Given the description of an element on the screen output the (x, y) to click on. 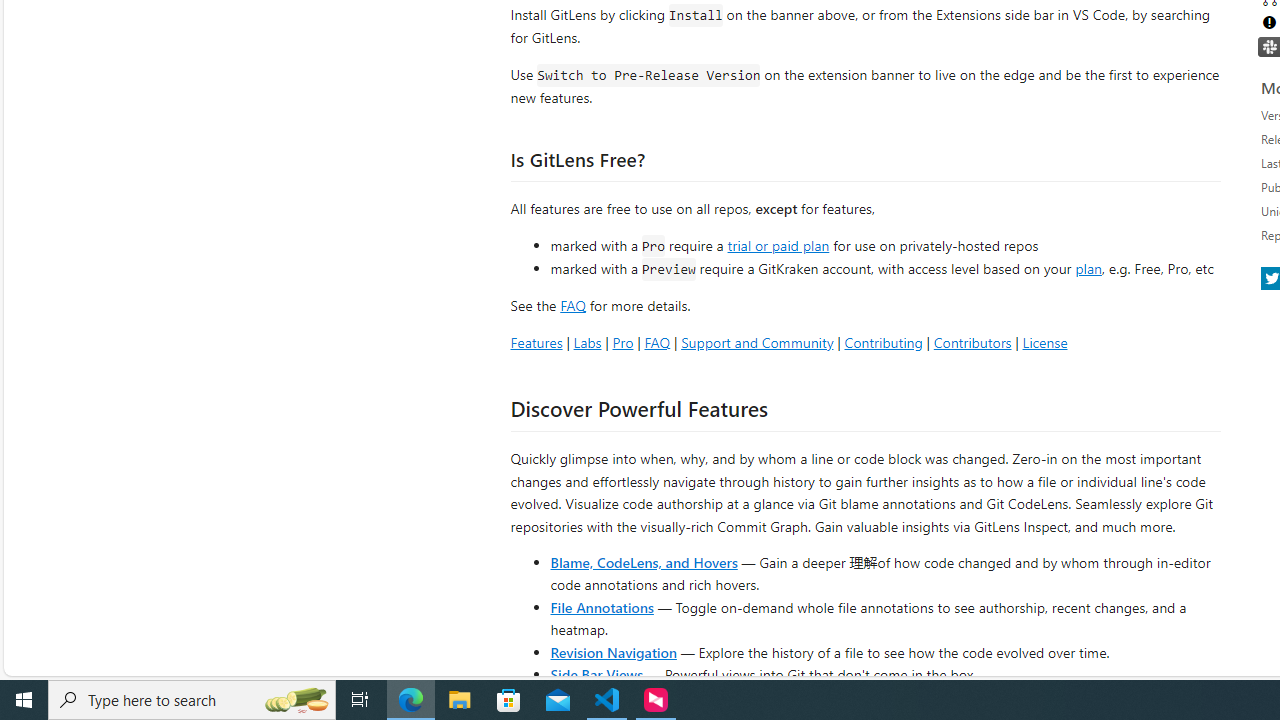
Contributing (882, 341)
Features (536, 341)
Side Bar Views (596, 673)
